Given the description of an element on the screen output the (x, y) to click on. 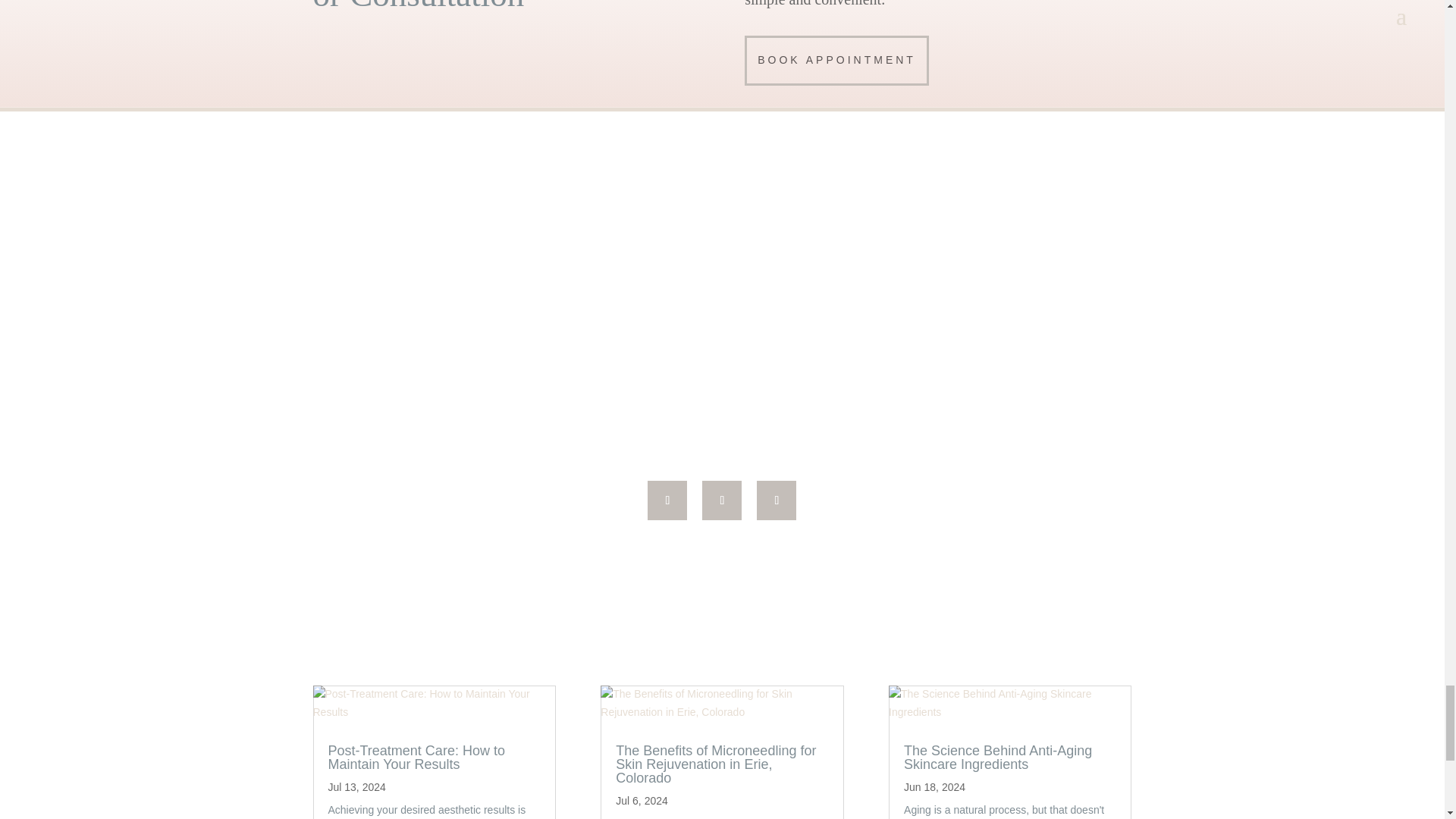
Follow on Facebook (667, 500)
Follow on Instagram (776, 500)
BOOK APPOINTMENT (836, 60)
Follow on TikTok (721, 500)
